Given the description of an element on the screen output the (x, y) to click on. 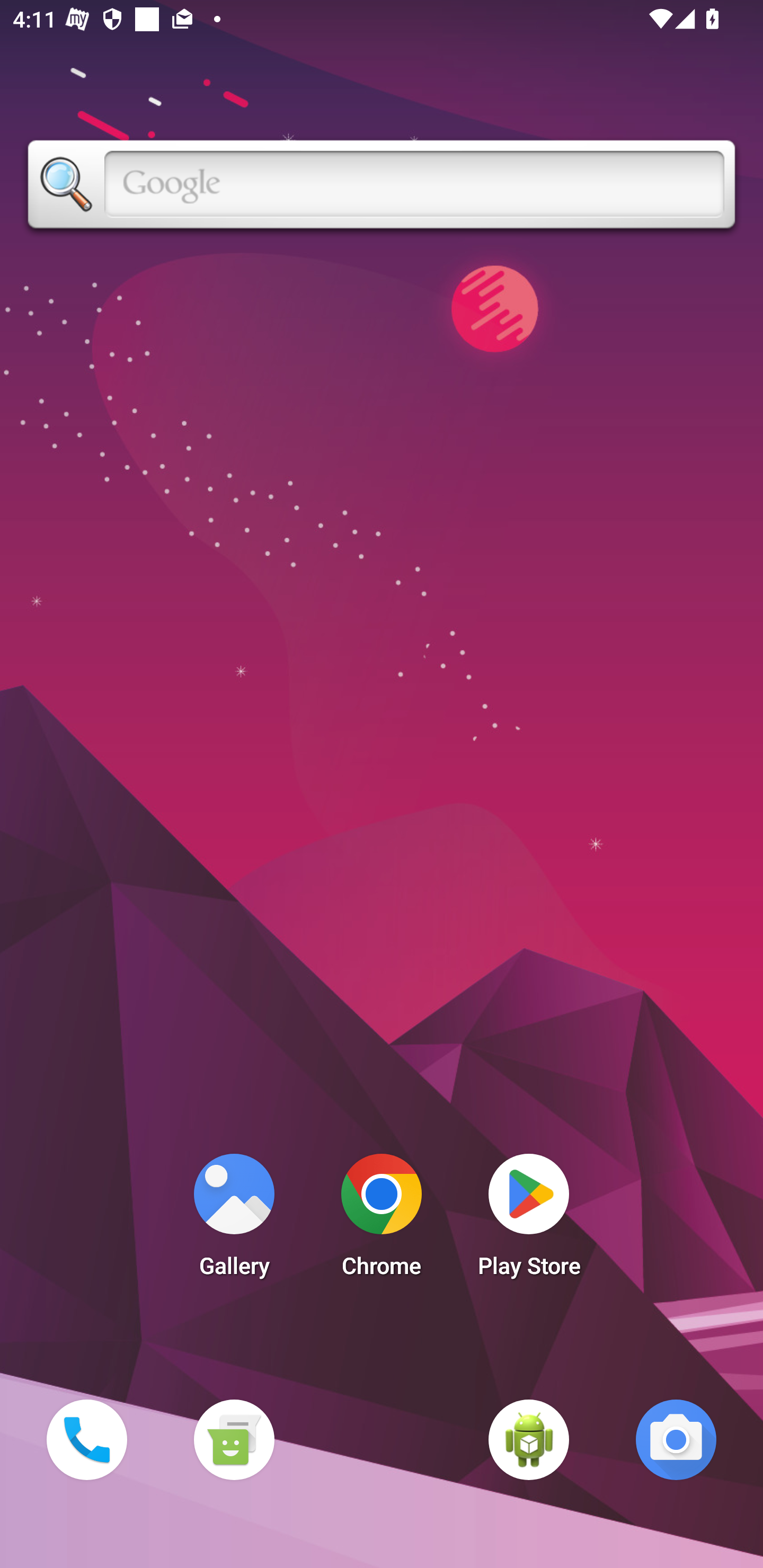
Gallery (233, 1220)
Chrome (381, 1220)
Play Store (528, 1220)
Phone (86, 1439)
Messaging (233, 1439)
WebView Browser Tester (528, 1439)
Camera (676, 1439)
